Given the description of an element on the screen output the (x, y) to click on. 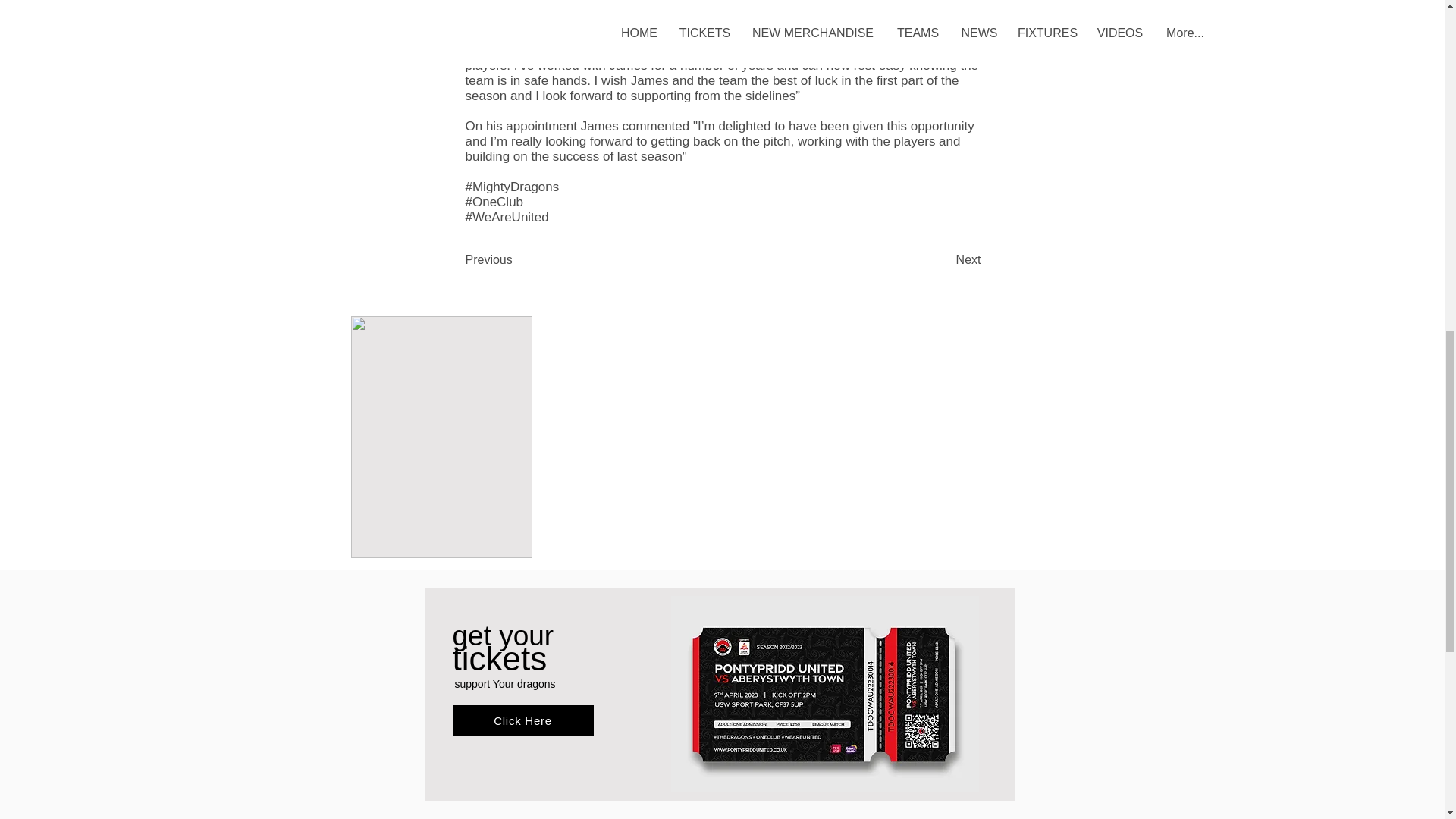
Click Here (521, 720)
Previous (515, 259)
Next (943, 259)
